Given the description of an element on the screen output the (x, y) to click on. 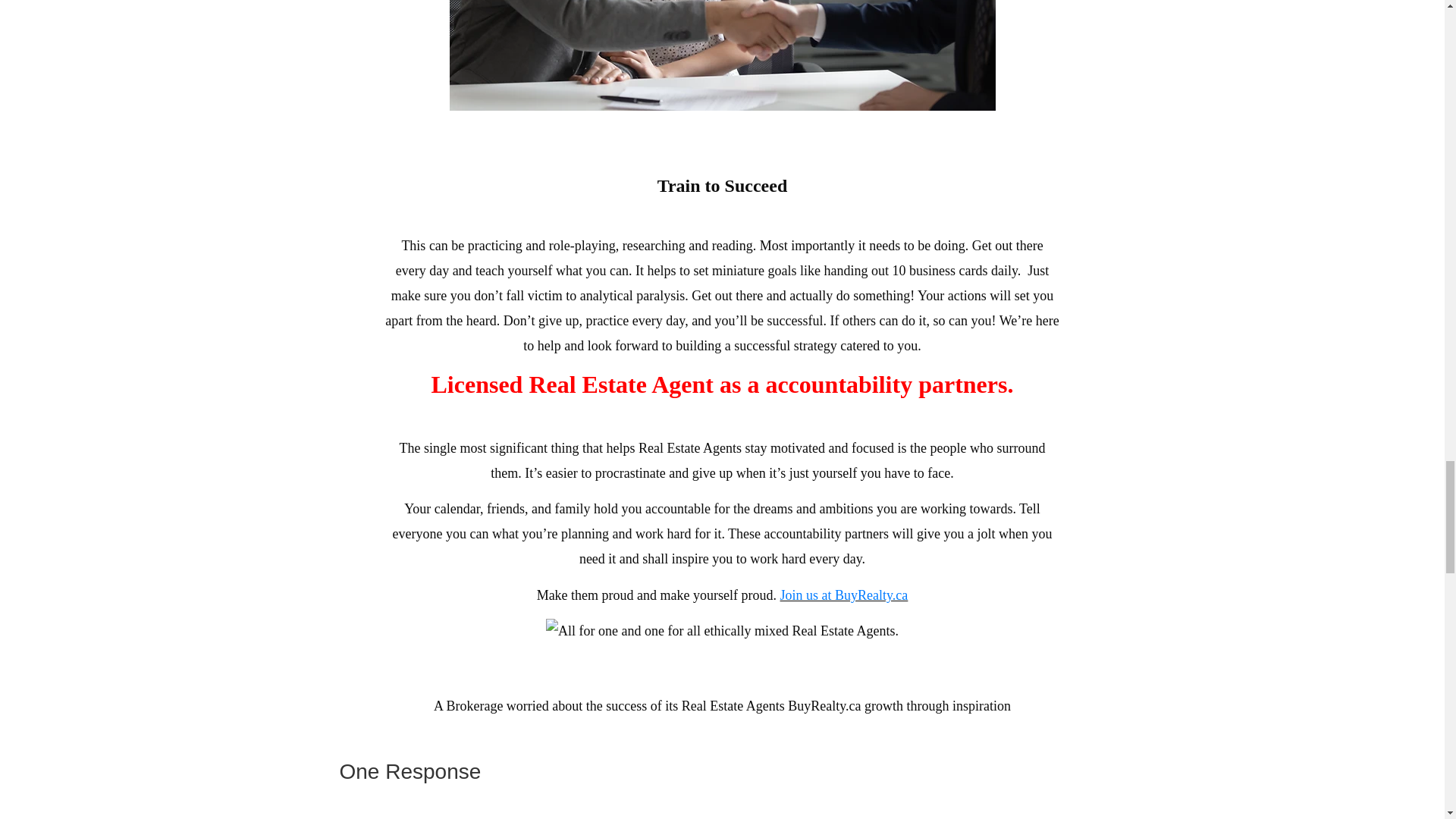
Justin Mikos (418, 818)
Join us at BuyRealty.ca (844, 595)
